Given the description of an element on the screen output the (x, y) to click on. 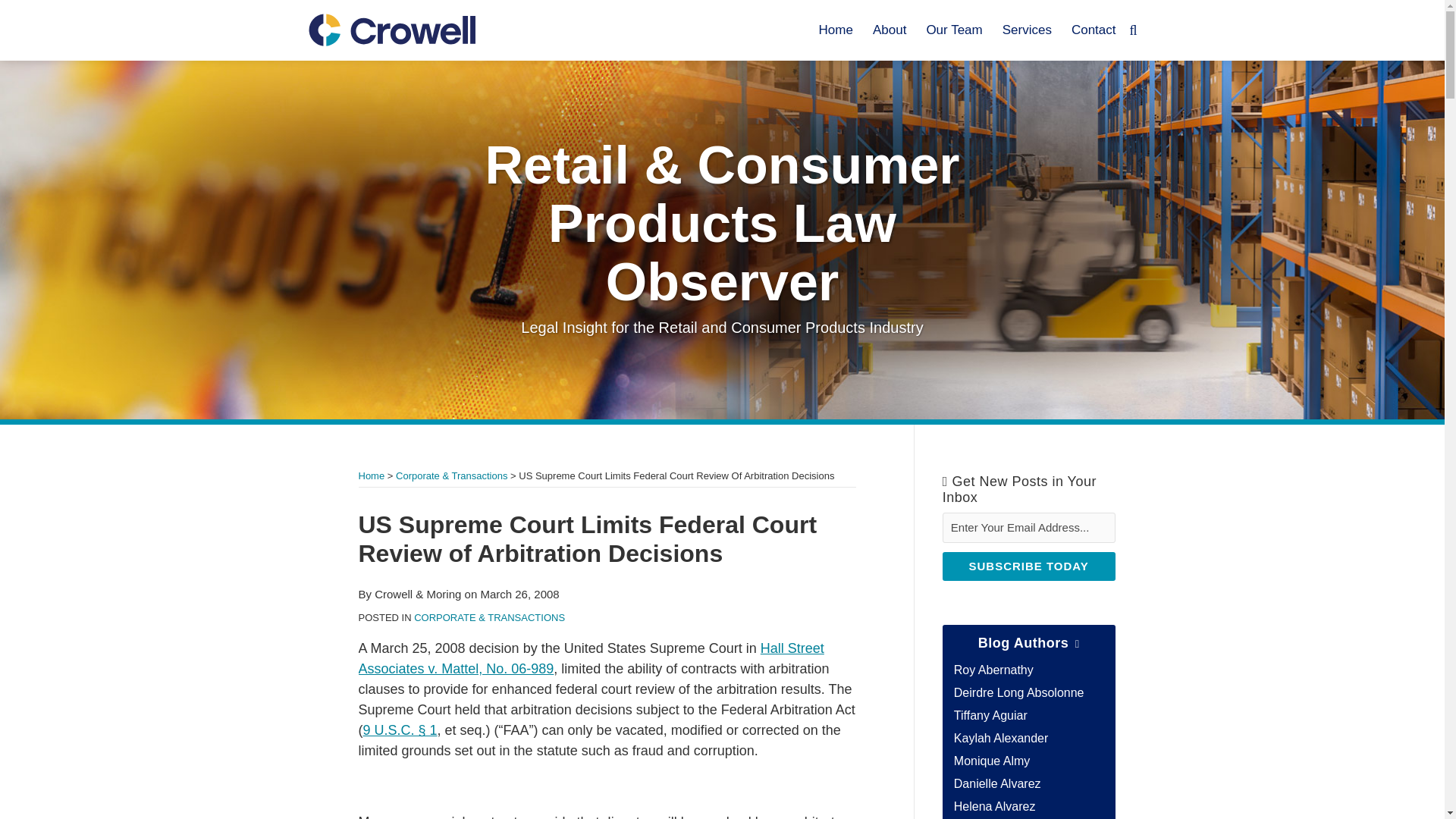
Deirdre Long Absolonne (1018, 692)
Tiffany Aguiar (990, 715)
Home (371, 475)
Roy Abernathy (993, 669)
Subscribe Today (1028, 566)
Subscribe Today (1028, 566)
Helena Alvarez (994, 806)
Our Team (953, 30)
Monique Almy (991, 760)
Kaylah Alexander (1000, 738)
